Given the description of an element on the screen output the (x, y) to click on. 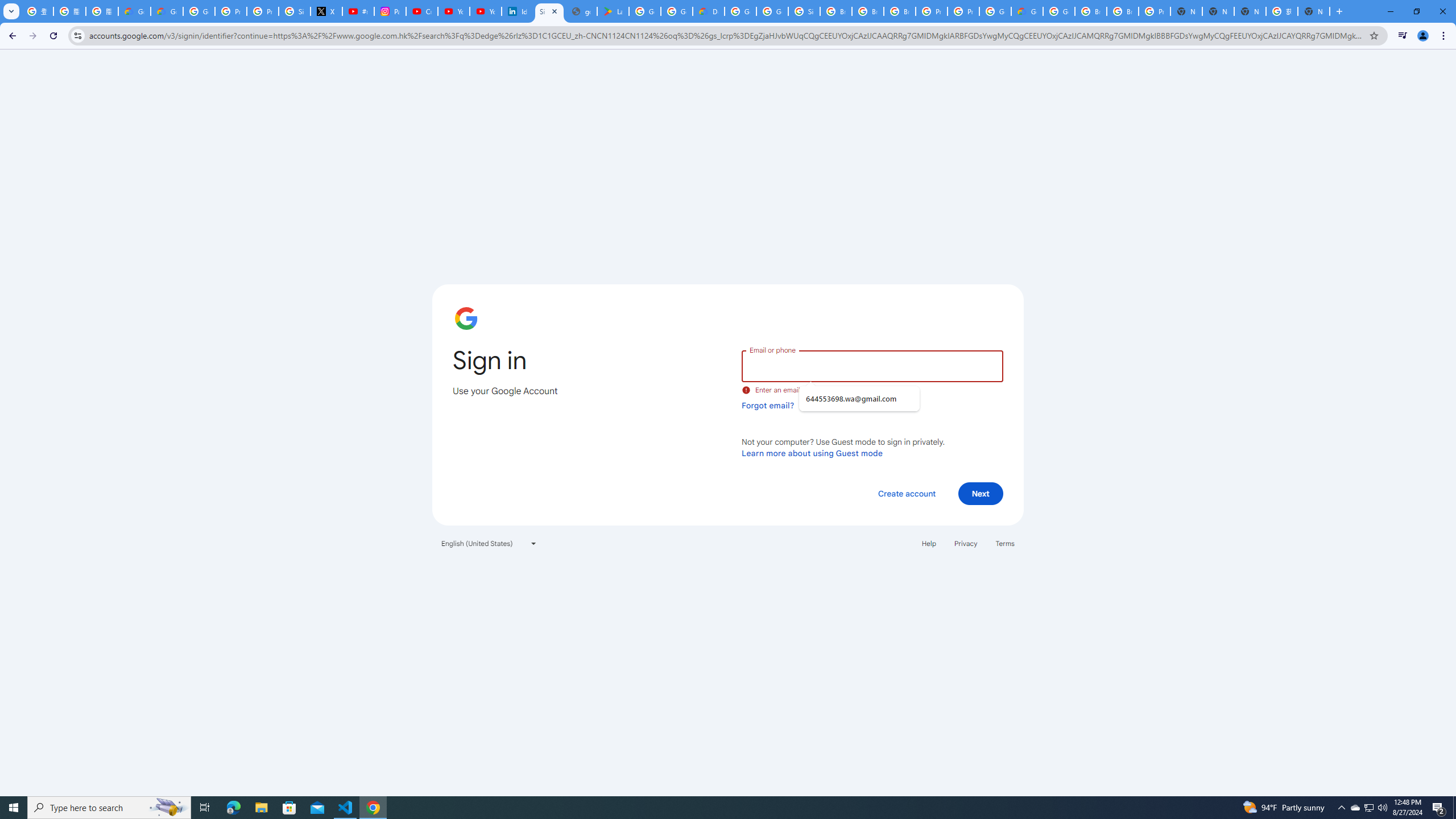
Google Cloud Platform (995, 11)
Google Cloud Platform (1059, 11)
Browse Chrome as a guest - Computer - Google Chrome Help (868, 11)
644553698.wa@gmail.com (858, 398)
X (326, 11)
Sign in - Google Accounts (294, 11)
Terms (1005, 542)
Sign in - Google Accounts (804, 11)
Browse Chrome as a guest - Computer - Google Chrome Help (899, 11)
Browse Chrome as a guest - Computer - Google Chrome Help (1091, 11)
